Given the description of an element on the screen output the (x, y) to click on. 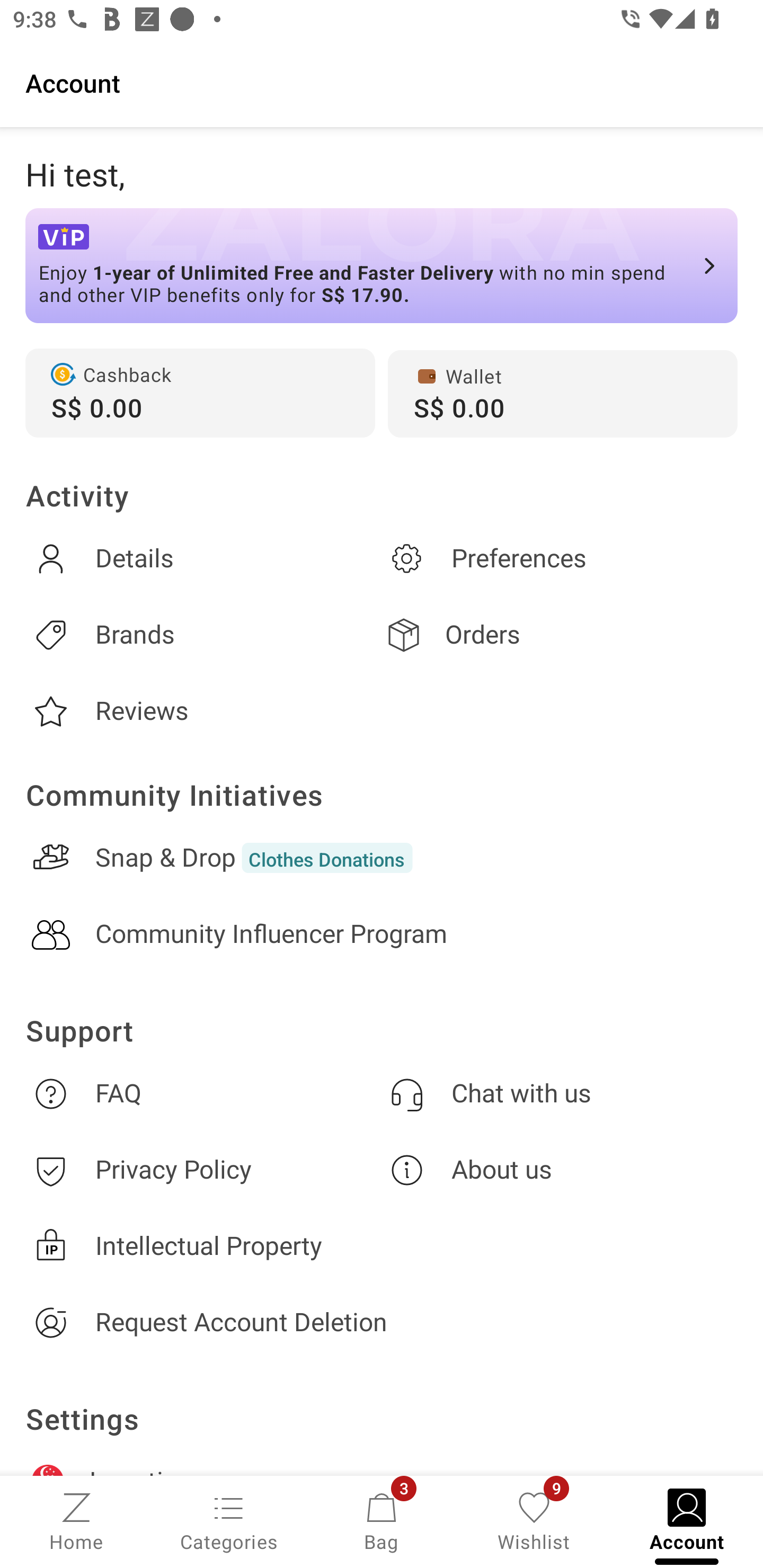
Account (381, 82)
Details (203, 558)
Preferences (559, 558)
Brands (203, 634)
Orders (559, 634)
Reviews (203, 710)
Snap & DropClothes Donations (381, 858)
Community Influencer Program (381, 934)
FAQ (203, 1093)
Chat with us (559, 1093)
Privacy Policy (203, 1170)
About us (559, 1170)
Intellectual Property (381, 1246)
Request Account Deletion (381, 1322)
Home (76, 1519)
Categories (228, 1519)
Bag, 3 new notifications Bag (381, 1519)
Wishlist, 9 new notifications Wishlist (533, 1519)
